Given the description of an element on the screen output the (x, y) to click on. 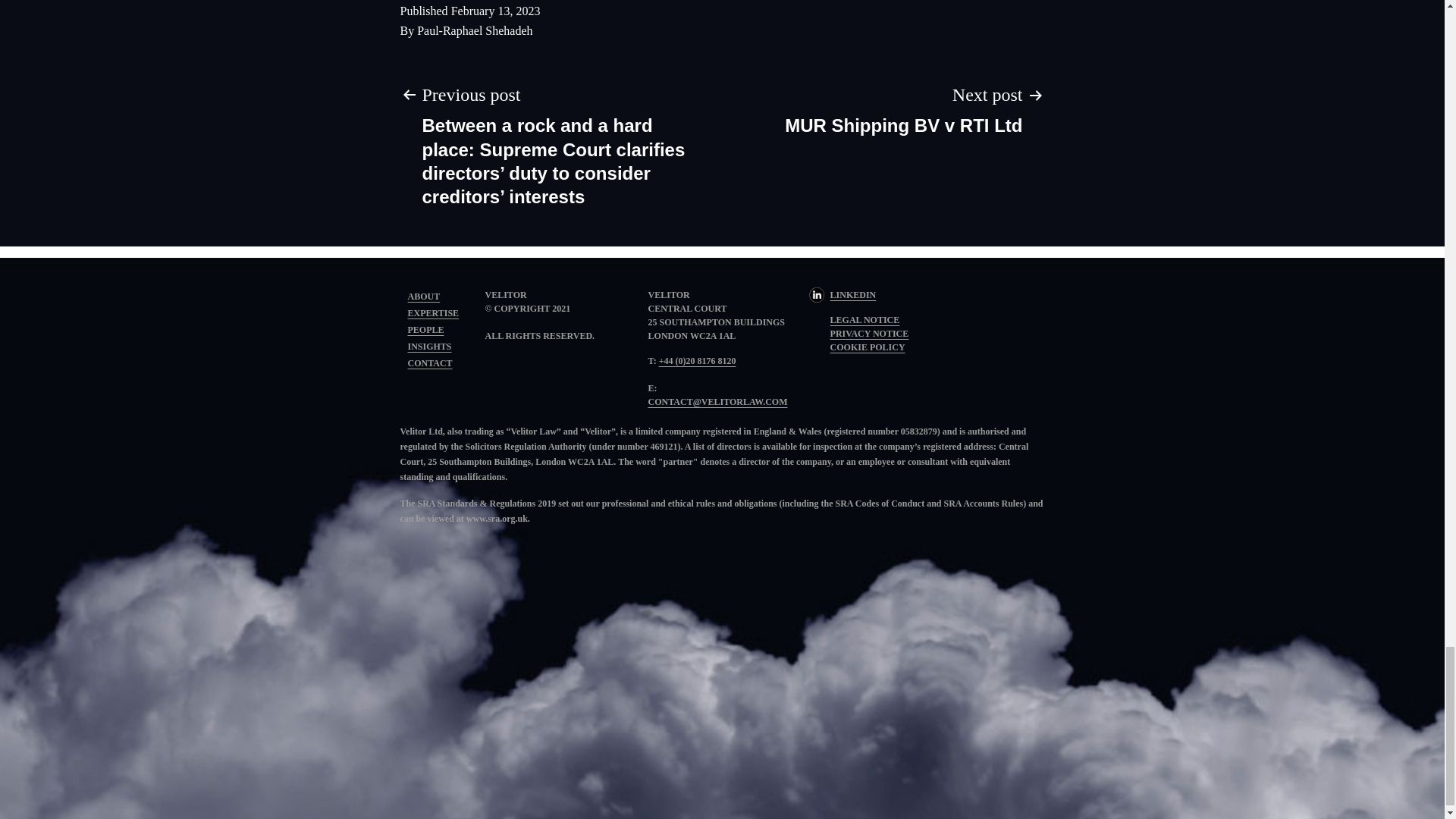
PRIVACY NOTICE (868, 333)
CONTACT (429, 362)
LINKEDIN (843, 294)
INSIGHTS (902, 108)
ABOUT (429, 346)
COOKIE POLICY (424, 296)
EXPERTISE (867, 347)
PEOPLE (433, 312)
LEGAL NOTICE (425, 329)
